Given the description of an element on the screen output the (x, y) to click on. 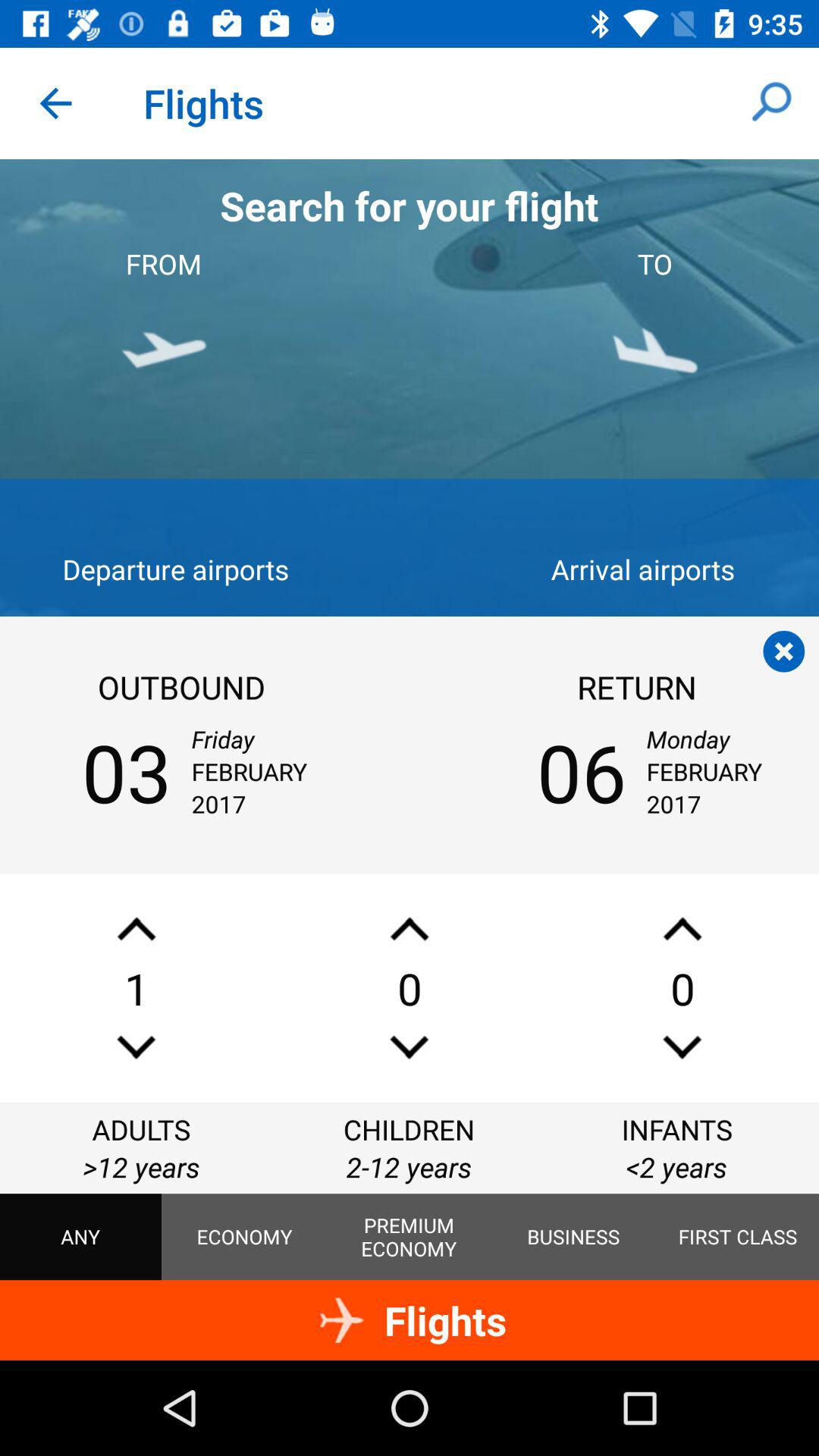
click the item next to the first class item (573, 1236)
